Given the description of an element on the screen output the (x, y) to click on. 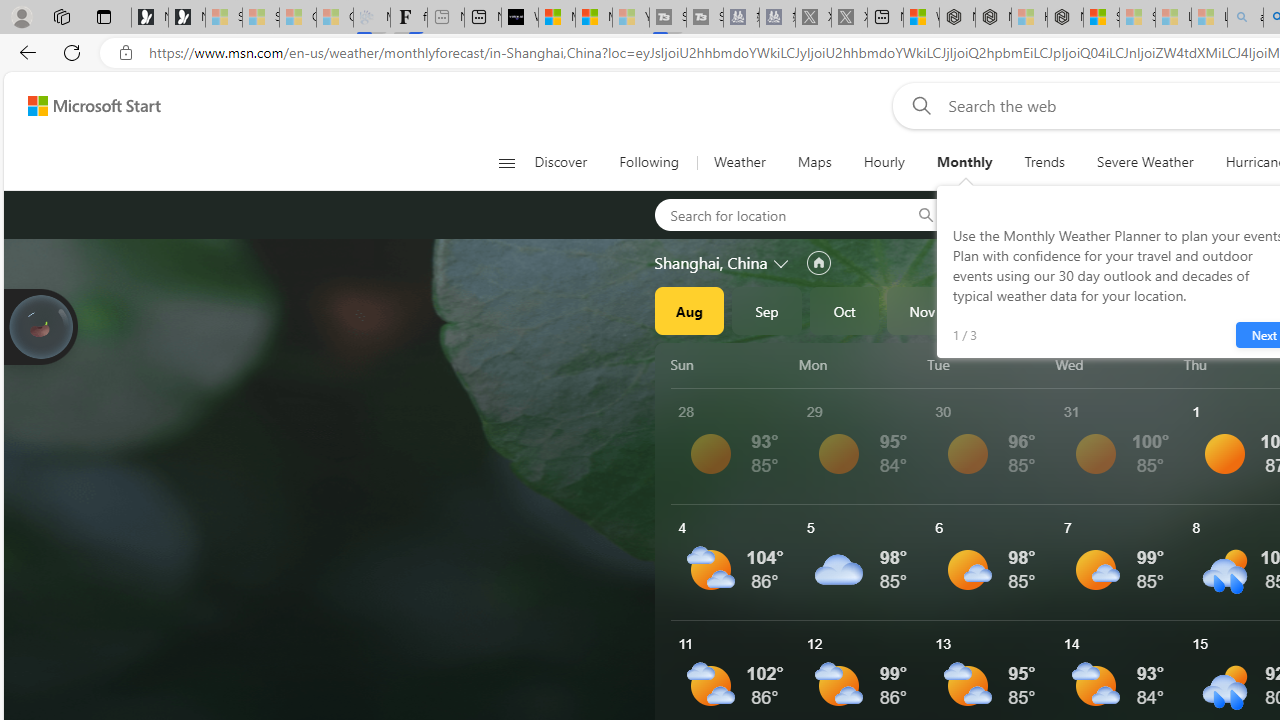
Oct (844, 310)
Severe Weather (1145, 162)
Join us in planting real trees to help our planet! (40, 327)
Aug (689, 310)
Sep (767, 310)
Dec (1000, 310)
Tue (987, 363)
Feb (1155, 310)
Web search (917, 105)
